Given the description of an element on the screen output the (x, y) to click on. 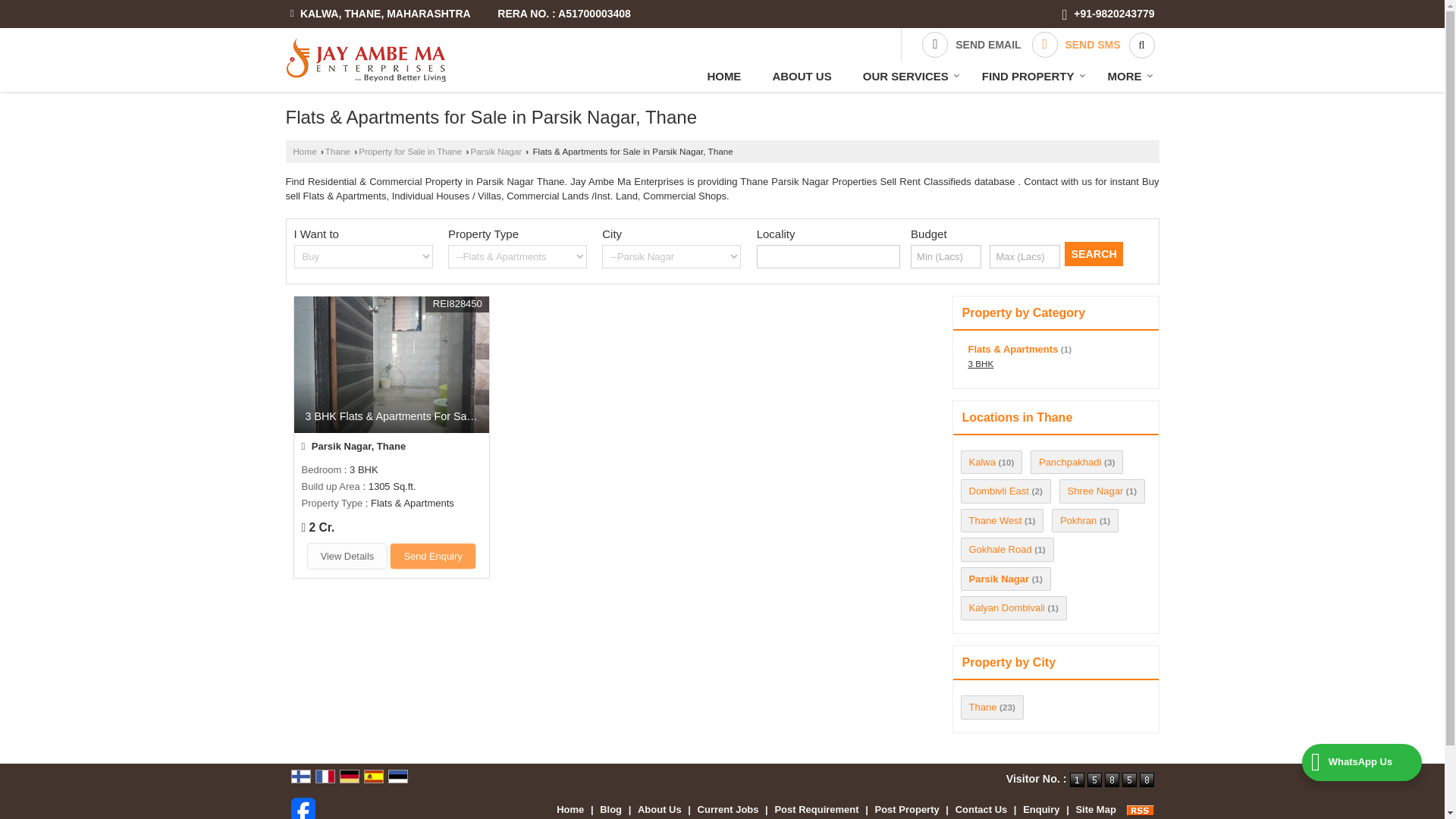
Our Services (906, 76)
SEND EMAIL (971, 44)
FIND PROPERTY (1029, 76)
SEND SMS (1075, 44)
SEARCH (1093, 253)
HOME (723, 76)
About Us (801, 76)
Jay Ambe Ma Enterprises (365, 59)
ABOUT US (801, 76)
OUR SERVICES (906, 76)
Find Property (1029, 76)
Home (723, 76)
